Given the description of an element on the screen output the (x, y) to click on. 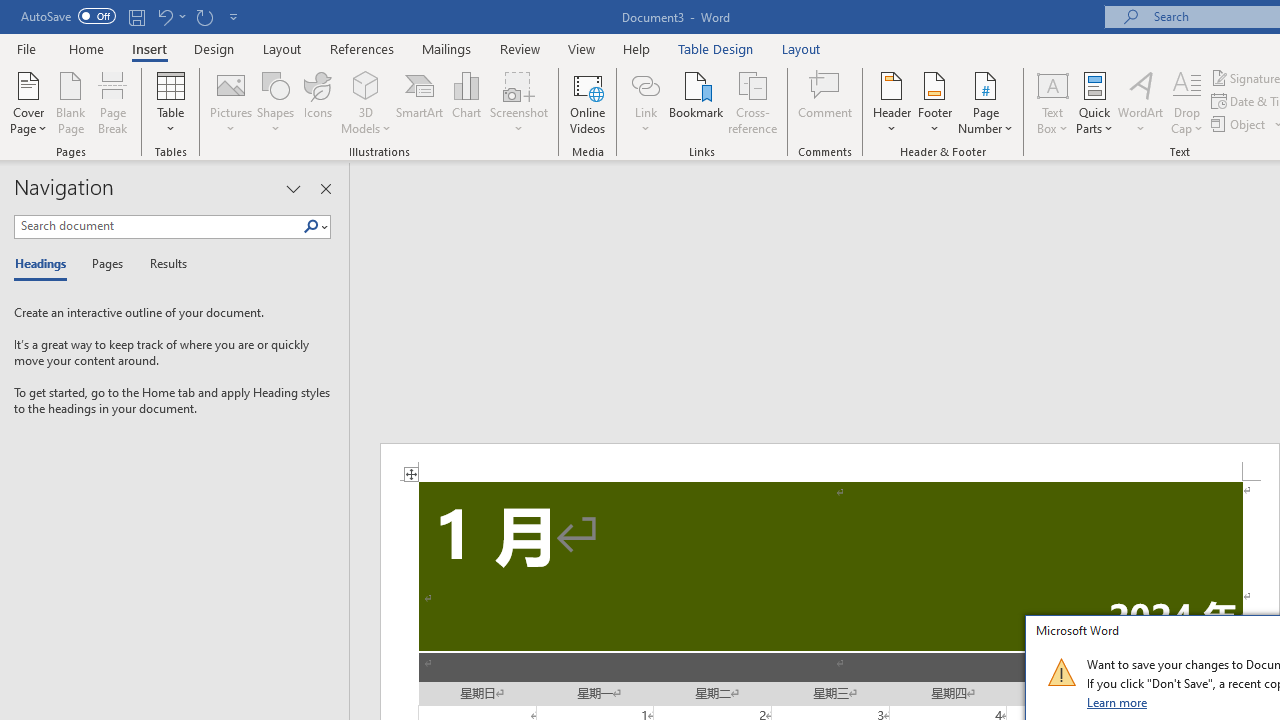
Customize Quick Access Toolbar (234, 15)
Pictures (230, 102)
Online Videos... (588, 102)
Cover Page (28, 102)
More Options (645, 121)
Bookmark... (695, 102)
Drop Cap (1187, 102)
Table Design (715, 48)
Footer (934, 102)
Class: NetUIImage (1061, 671)
Design (214, 48)
Results (161, 264)
3D Models (366, 102)
Screenshot (518, 102)
Search document (157, 226)
